Given the description of an element on the screen output the (x, y) to click on. 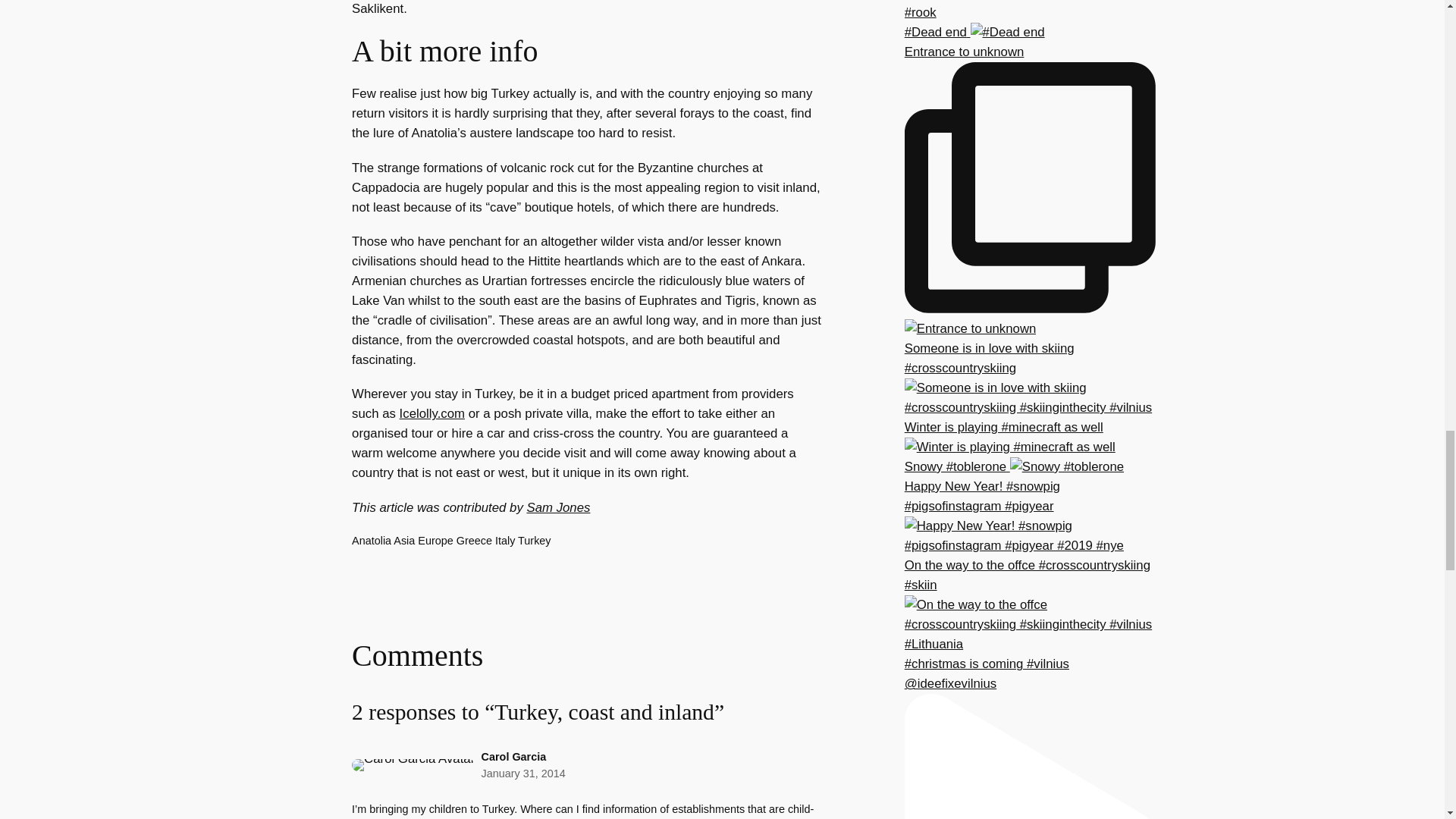
Asia (403, 540)
Greece (474, 540)
Sam Jones (557, 507)
Italy (505, 540)
Icelolly.com (431, 413)
Anatolia (371, 540)
icelolly (431, 413)
Europe (434, 540)
